Given the description of an element on the screen output the (x, y) to click on. 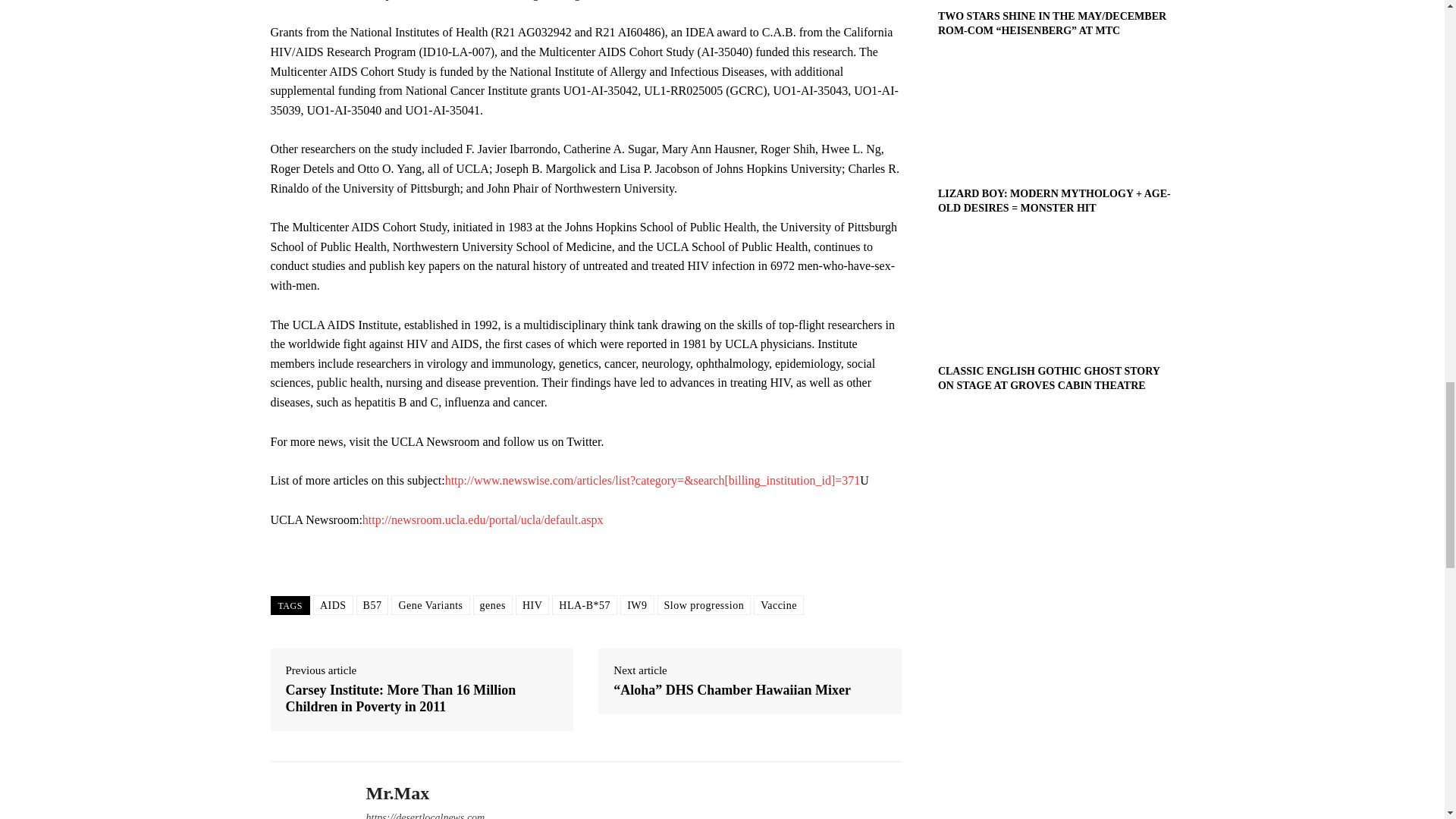
Mr.Max (424, 793)
HIV (531, 605)
genes (492, 605)
AIDS (333, 605)
Gene Variants (429, 605)
Slow progression (704, 605)
Mr.Max (305, 798)
IW9 (636, 605)
B57 (372, 605)
